Given the description of an element on the screen output the (x, y) to click on. 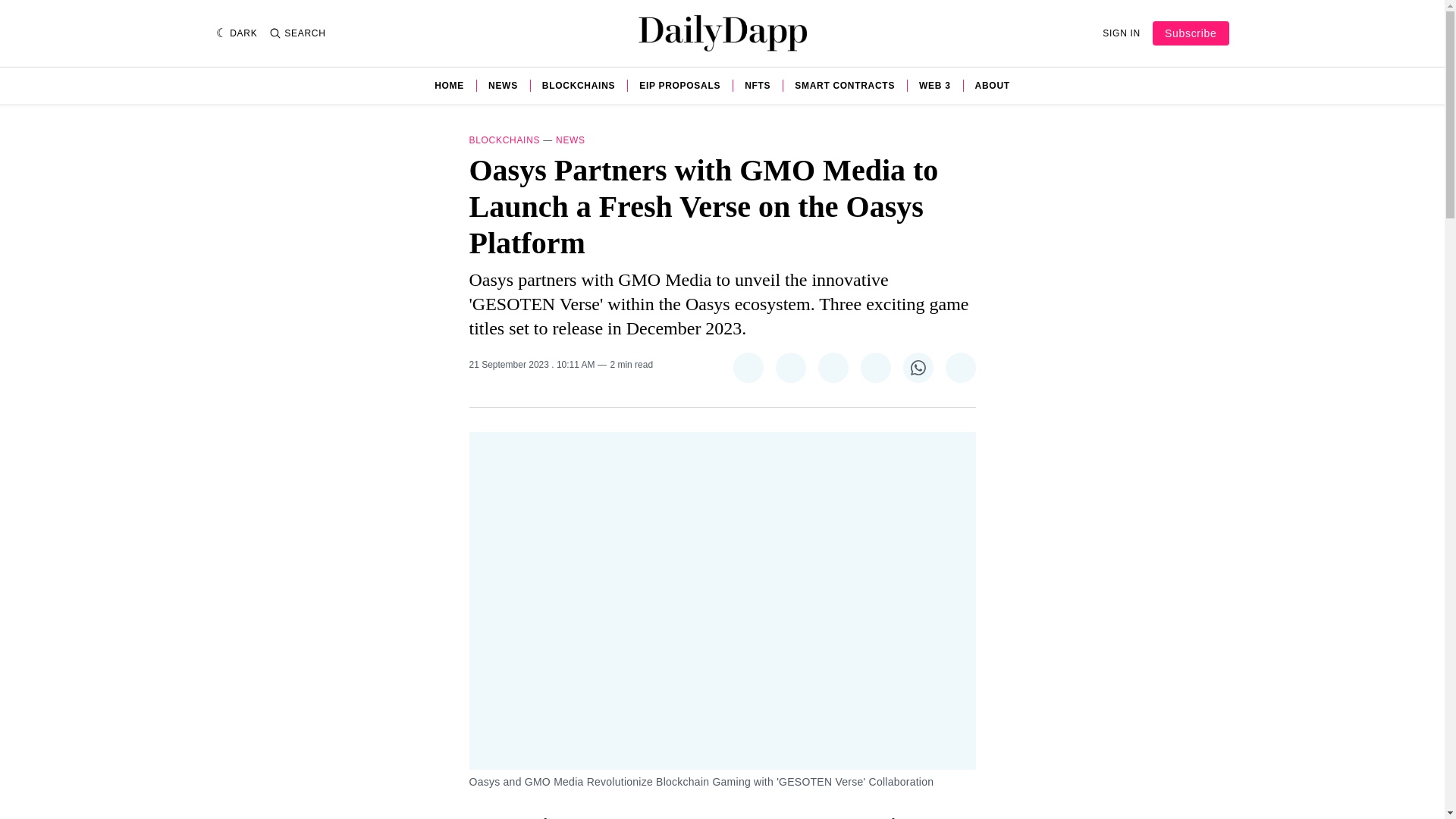
Share on Pinterest (831, 367)
DARK (236, 32)
ABOUT (992, 85)
SEARCH (296, 33)
NFTS (757, 85)
Subscribe (1190, 33)
BLOCKCHAINS (504, 140)
NEWS (570, 140)
Share on LinkedIn (874, 367)
Share on Facebook (789, 367)
